Given the description of an element on the screen output the (x, y) to click on. 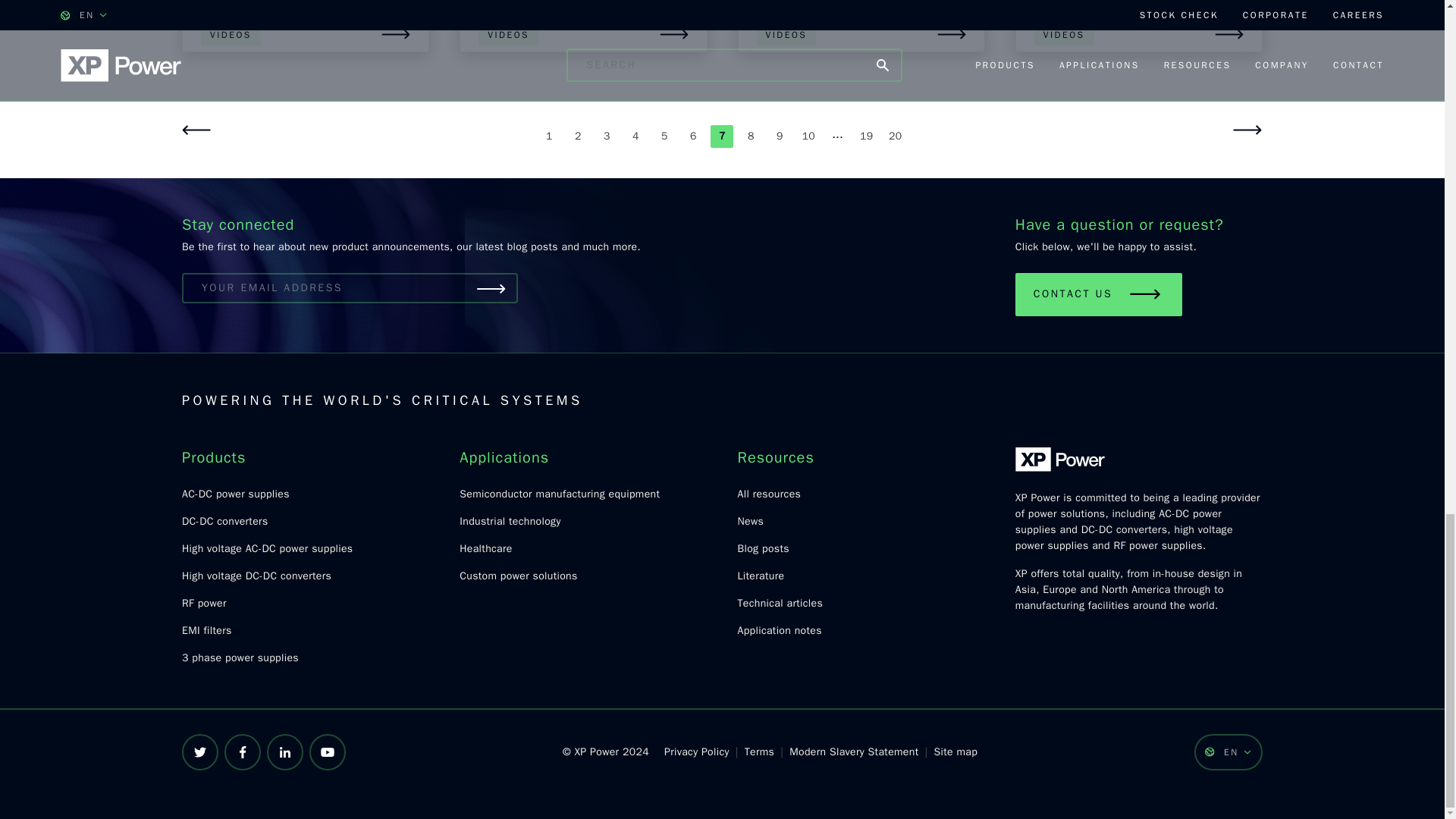
XP Power (1059, 459)
